Given the description of an element on the screen output the (x, y) to click on. 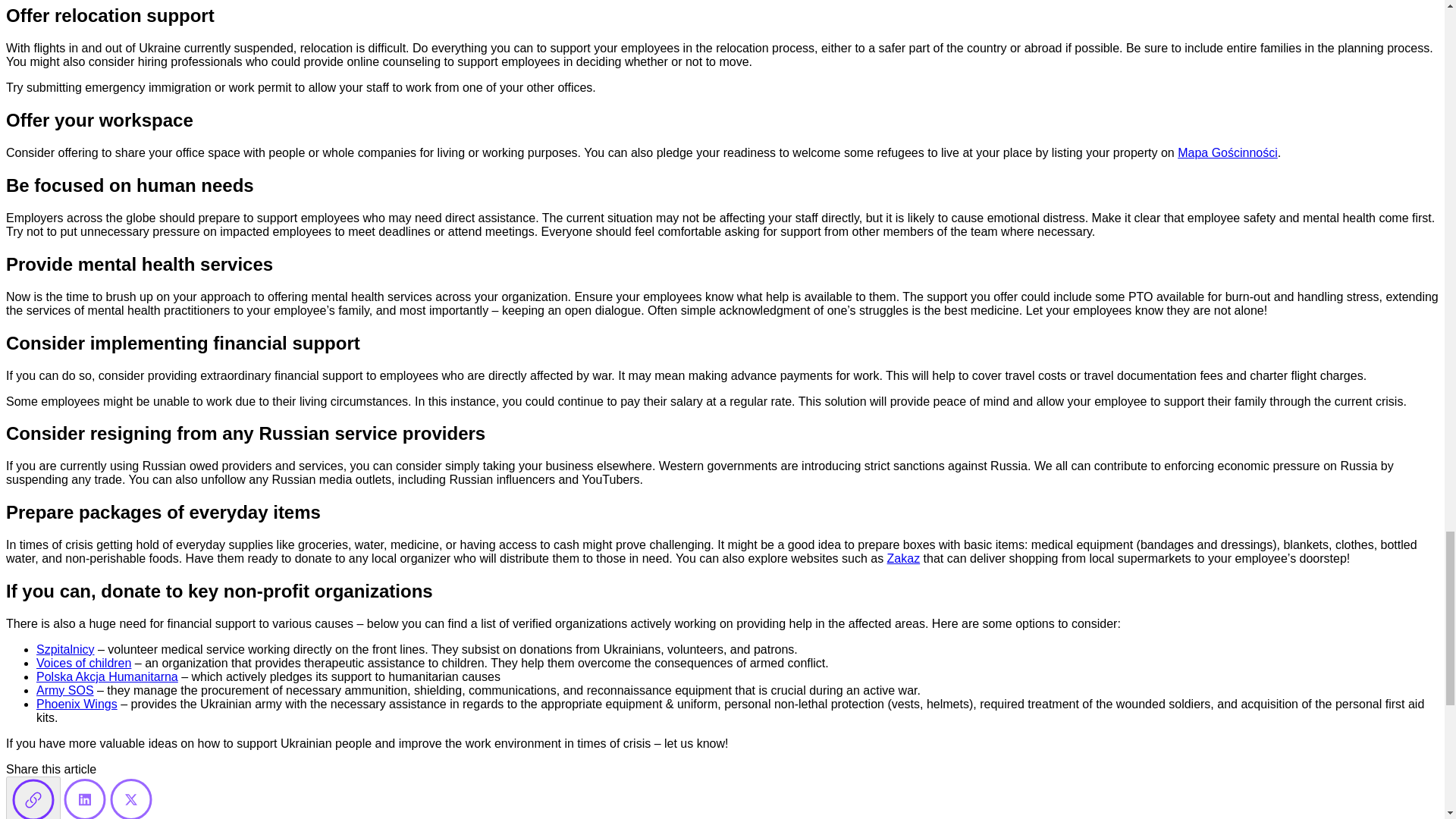
Army SOS (65, 689)
Voices of children (83, 662)
Phoenix Wings (76, 703)
Zakaz (903, 558)
Szpitalnicy (65, 649)
Polska Akcja Humanitarna (106, 676)
